Given the description of an element on the screen output the (x, y) to click on. 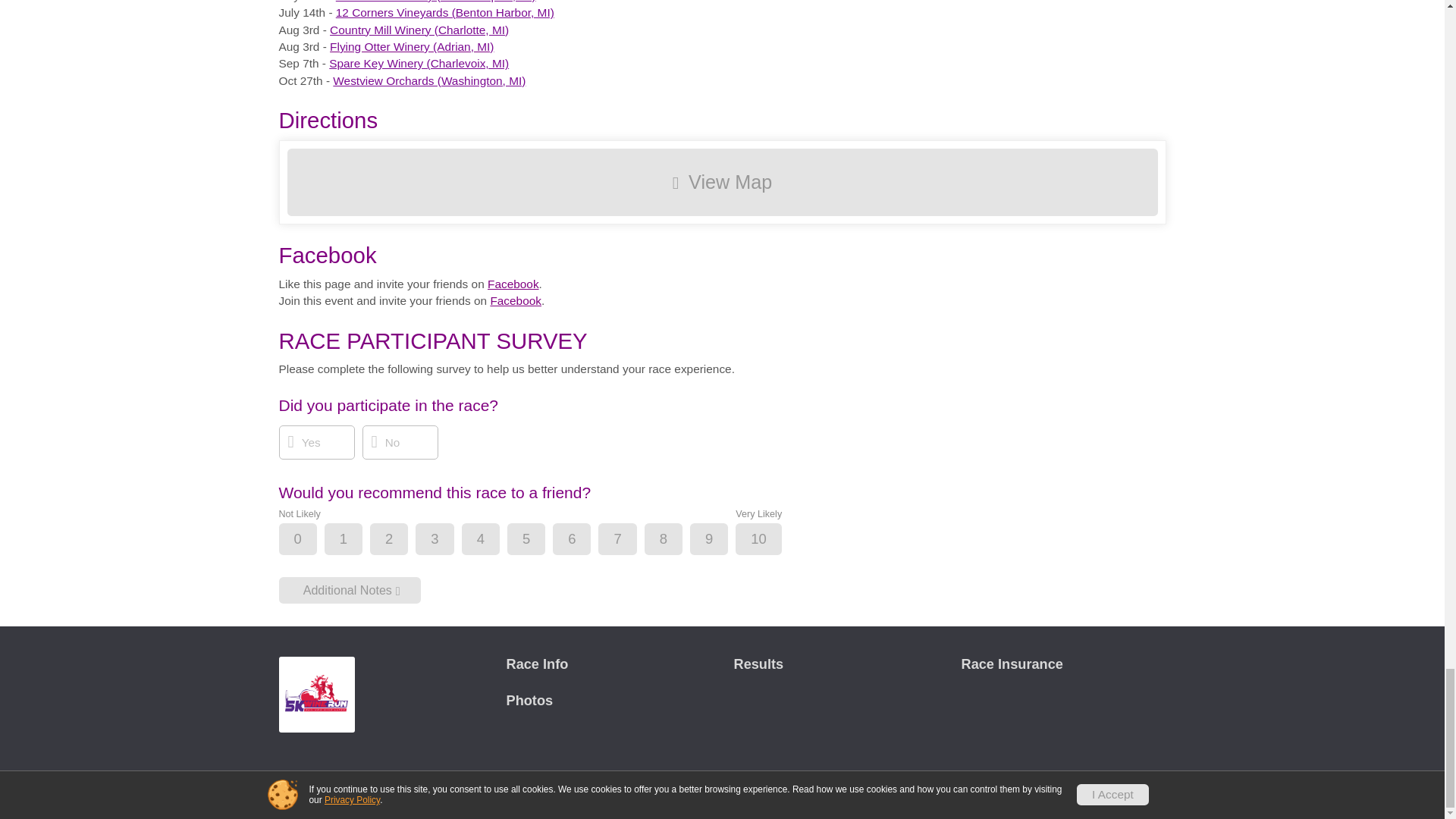
9 (721, 540)
7 (629, 540)
5 (539, 540)
8 (675, 540)
0 (310, 540)
10 (770, 540)
1 (355, 540)
6 (584, 540)
4 (493, 540)
2 (401, 540)
